Given the description of an element on the screen output the (x, y) to click on. 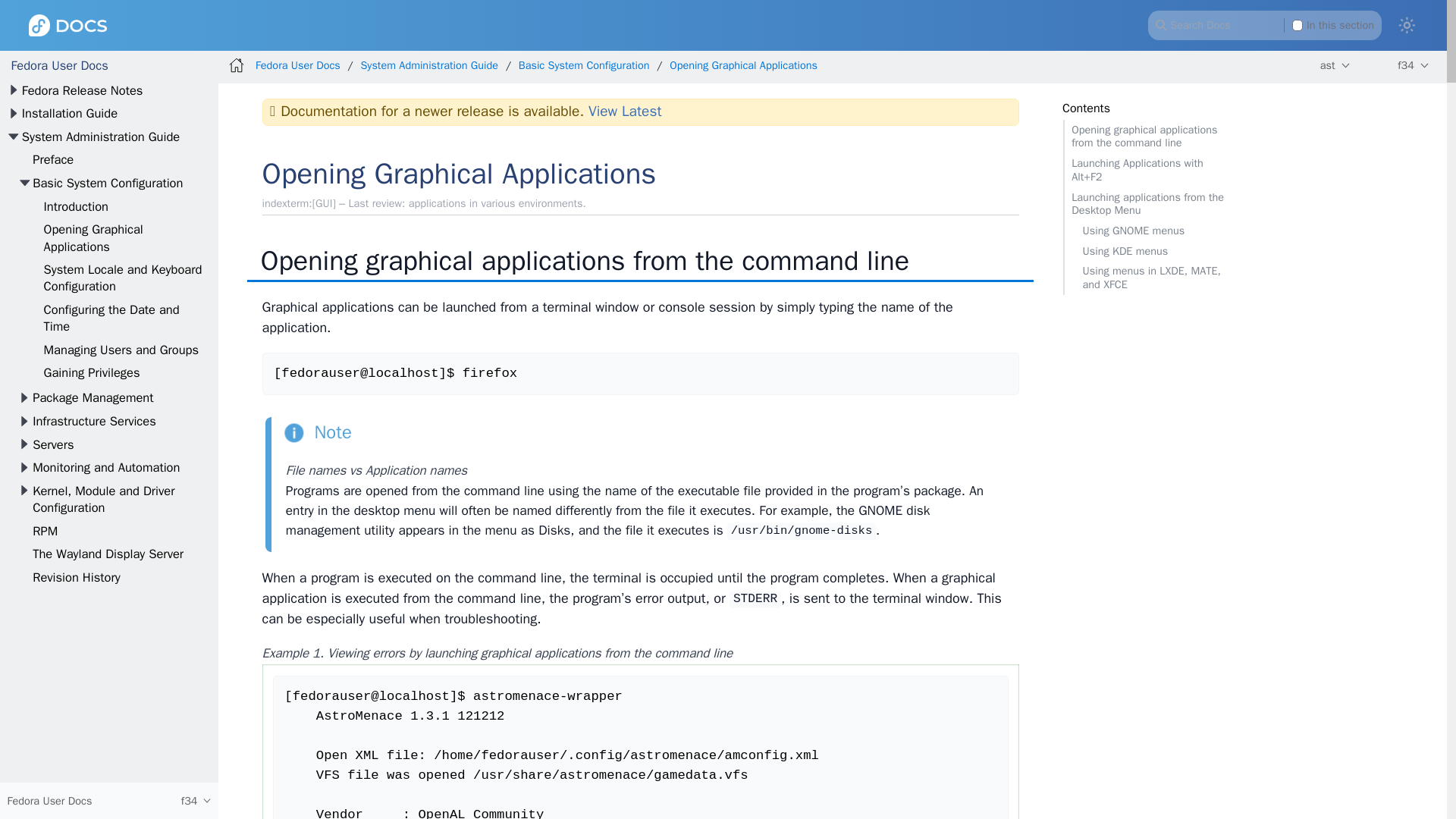
on (1297, 24)
Installation Guide (69, 113)
Fedora Release Notes (81, 90)
Note (317, 432)
Fedora User Docs (58, 65)
Show other languages of the site (1333, 65)
Show other versions of page (1413, 65)
